Given the description of an element on the screen output the (x, y) to click on. 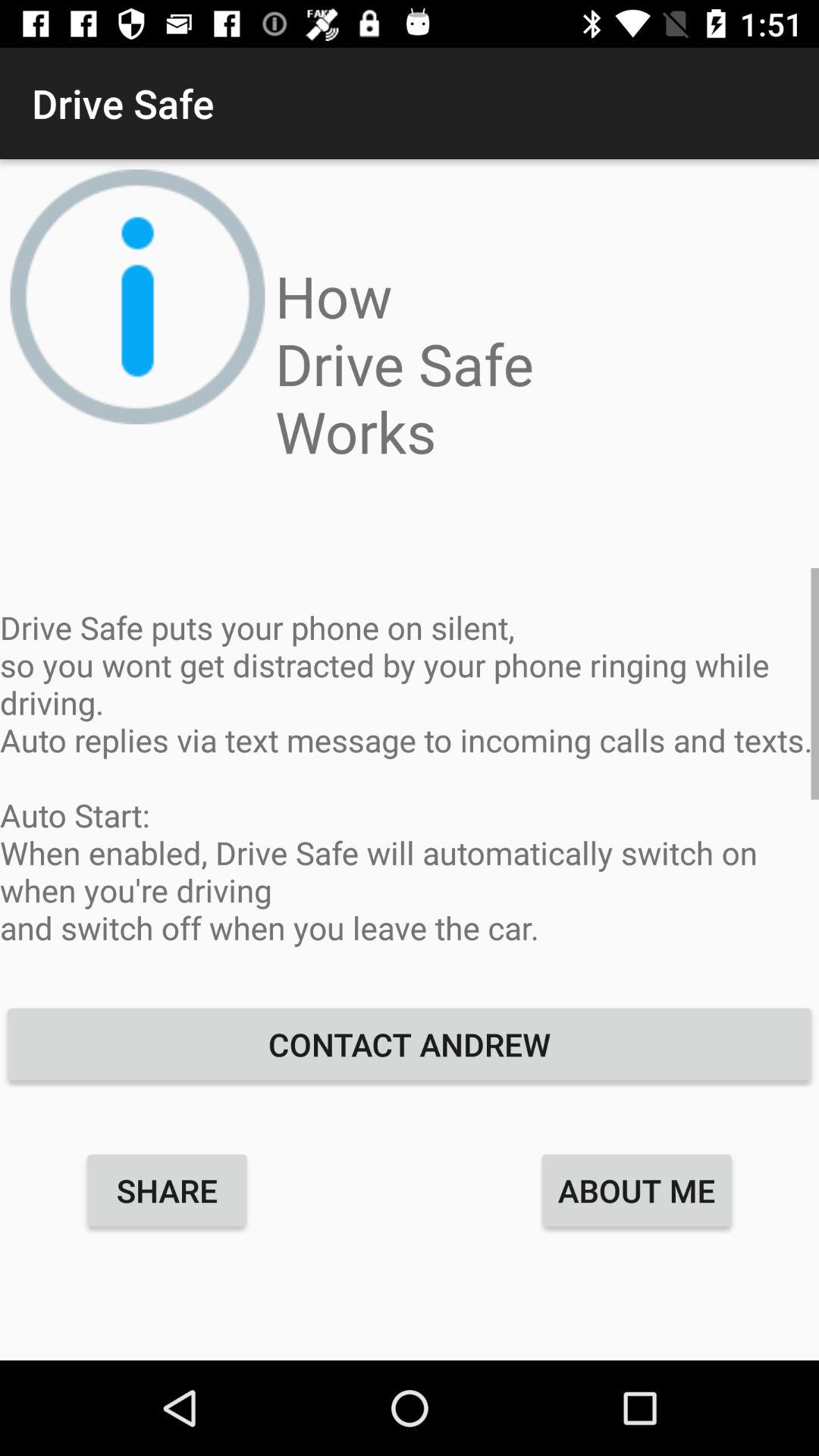
open contact andrew (409, 1044)
